Given the description of an element on the screen output the (x, y) to click on. 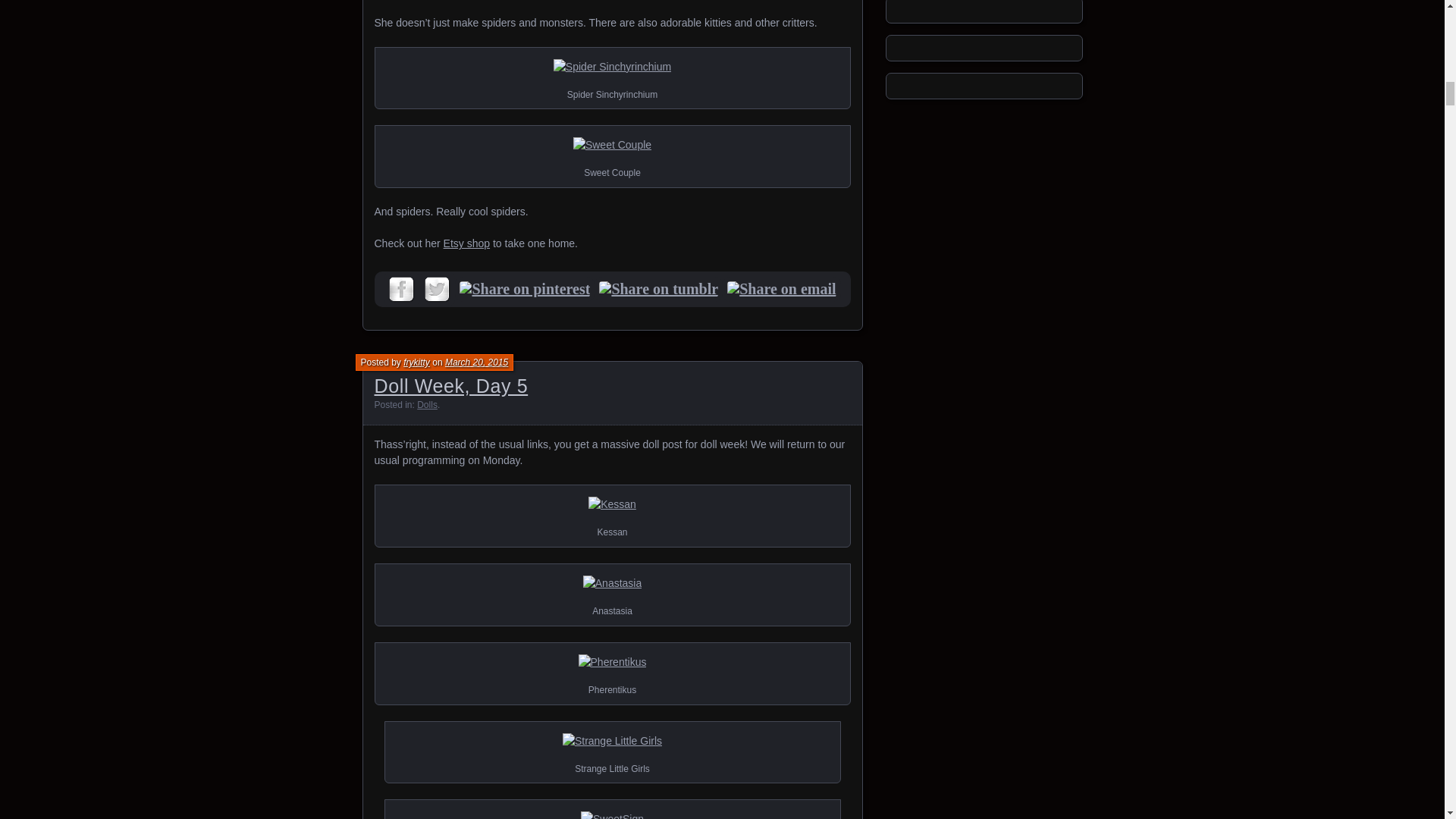
Doll Week, Day 5 (451, 385)
twitter (436, 289)
March 20, 2015 (476, 362)
Etsy shop (466, 243)
frykitty (416, 362)
Dolls (427, 404)
facebook (401, 289)
